Given the description of an element on the screen output the (x, y) to click on. 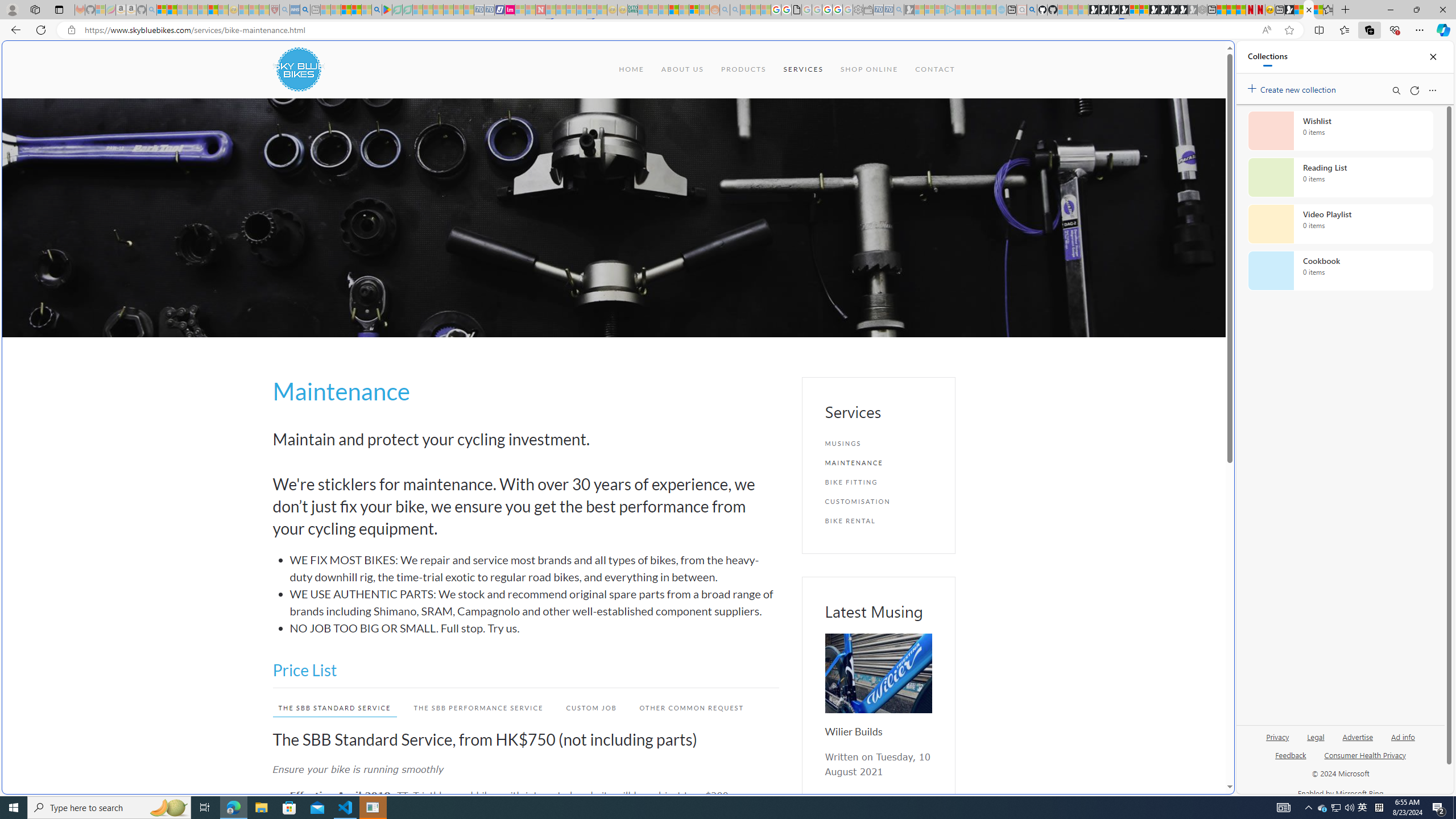
New tab - Sleeping (314, 9)
Sign in to your account (1134, 9)
Expert Portfolios (673, 9)
BIKE RENTAL (878, 520)
Refresh (1414, 90)
New tab (1279, 9)
CONTACT (935, 68)
Video Playlist collection, 0 items (1339, 223)
Browser essentials (1394, 29)
Settings and more (Alt+F) (1419, 29)
